Given the description of an element on the screen output the (x, y) to click on. 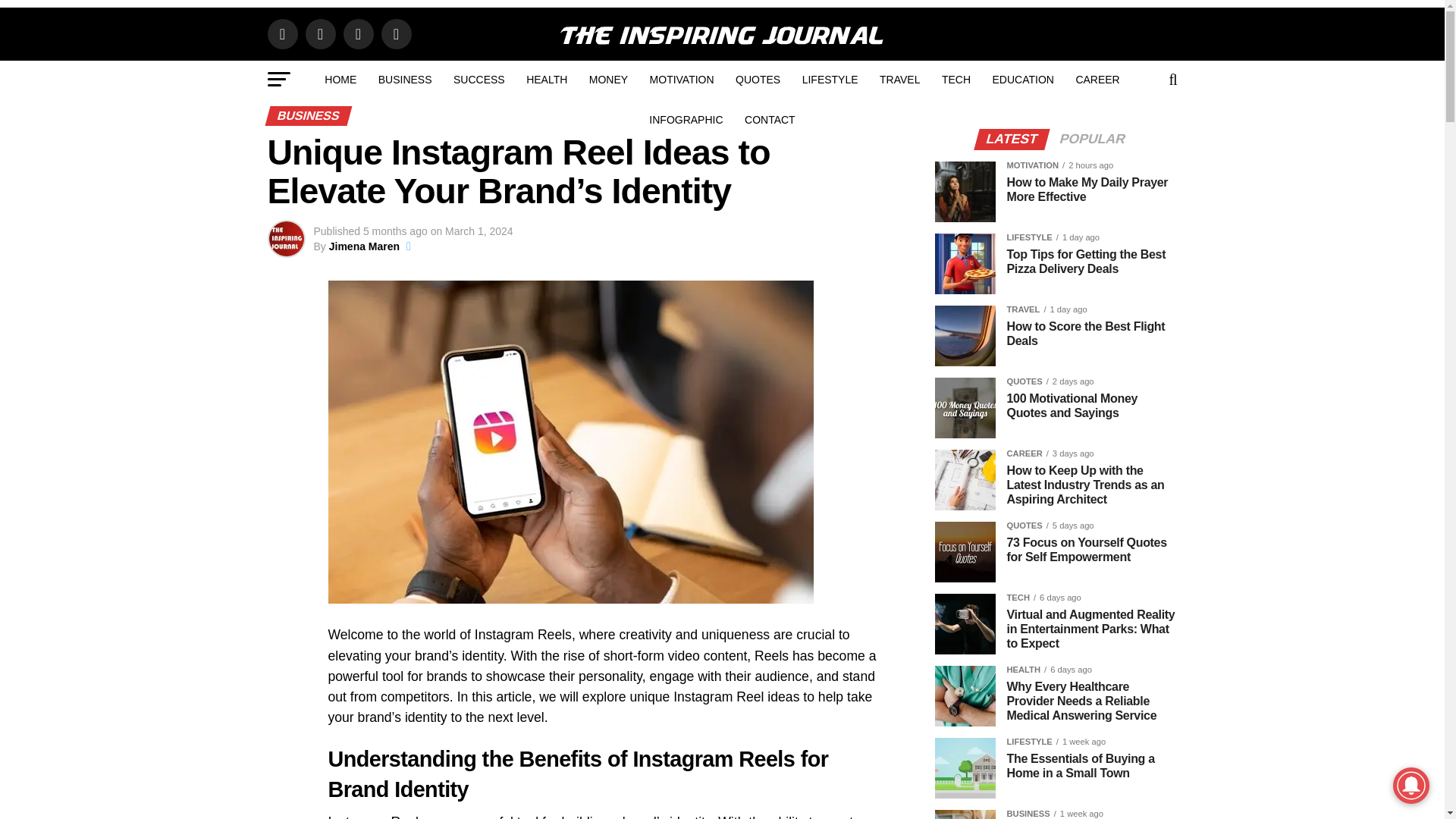
INFOGRAPHIC (686, 119)
BUSINESS (405, 79)
MOTIVATION (681, 79)
LIFESTYLE (830, 79)
HEALTH (546, 79)
MONEY (608, 79)
SUCCESS (478, 79)
EDUCATION (1022, 79)
QUOTES (757, 79)
HOME (340, 79)
TRAVEL (899, 79)
Posts by Jimena Maren (363, 246)
CAREER (1096, 79)
TECH (956, 79)
